Given the description of an element on the screen output the (x, y) to click on. 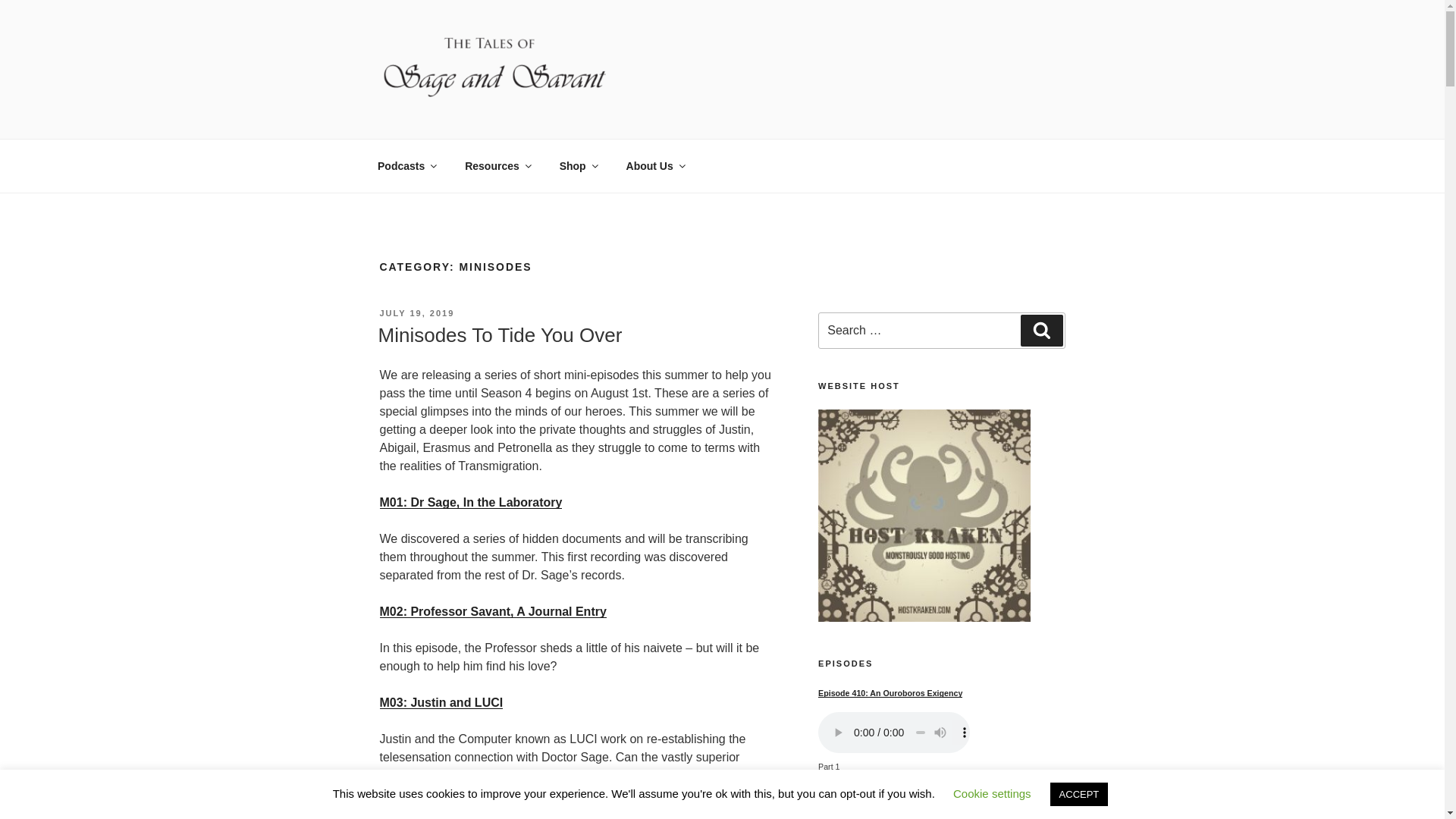
JULY 19, 2019 (416, 312)
SAGE AND SAVANT (524, 119)
M04: Dr Sage meets Cunningham (475, 811)
Shop (578, 165)
M02: Professor Savant, A Journal Entry (491, 611)
Minisodes To Tide You Over (499, 334)
Resources (497, 165)
Podcasts (406, 165)
Search (1041, 330)
About Us (654, 165)
